Given the description of an element on the screen output the (x, y) to click on. 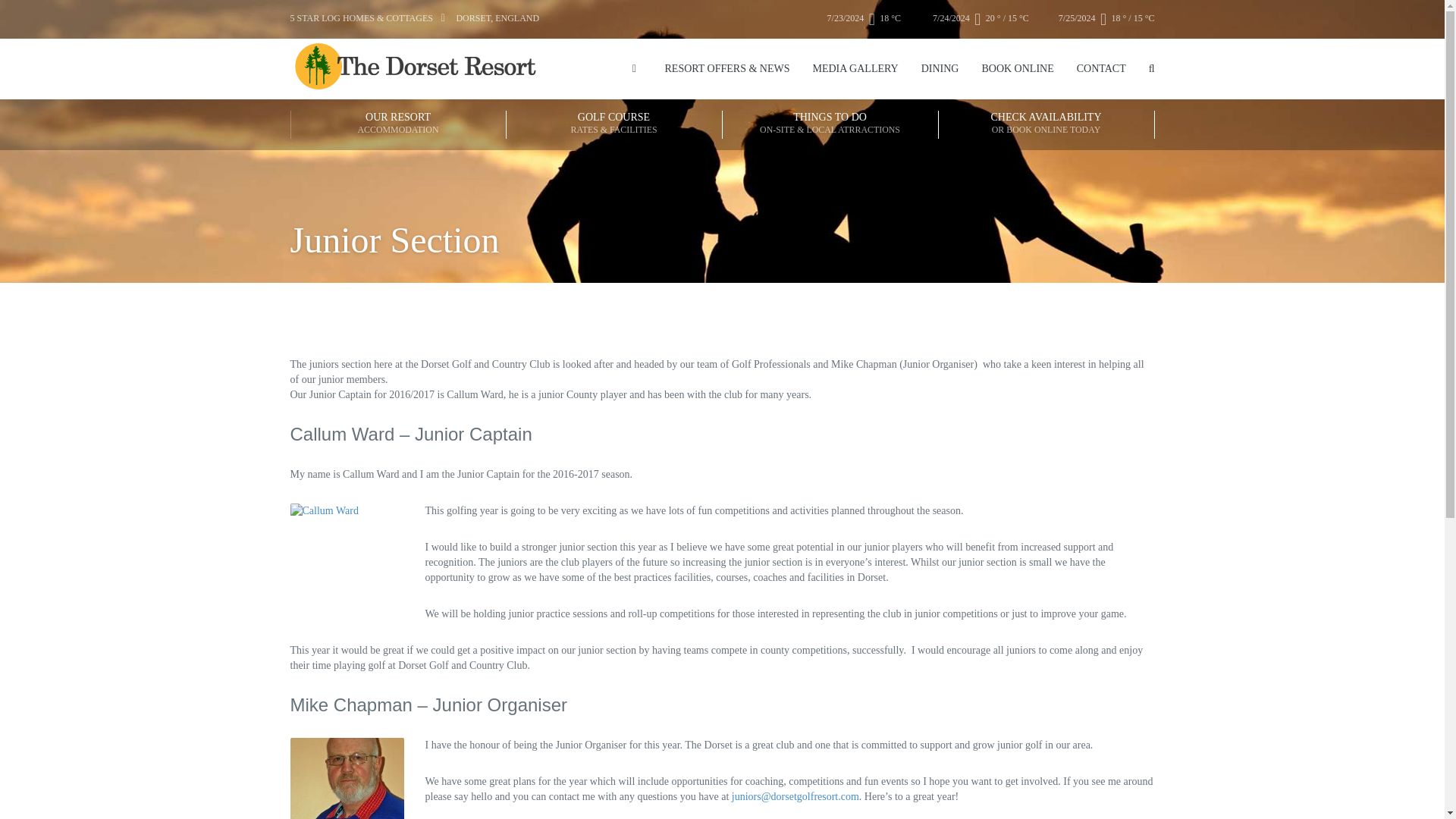
BOOK ONLINE (1016, 68)
MEDIA GALLERY (855, 68)
